Given the description of an element on the screen output the (x, y) to click on. 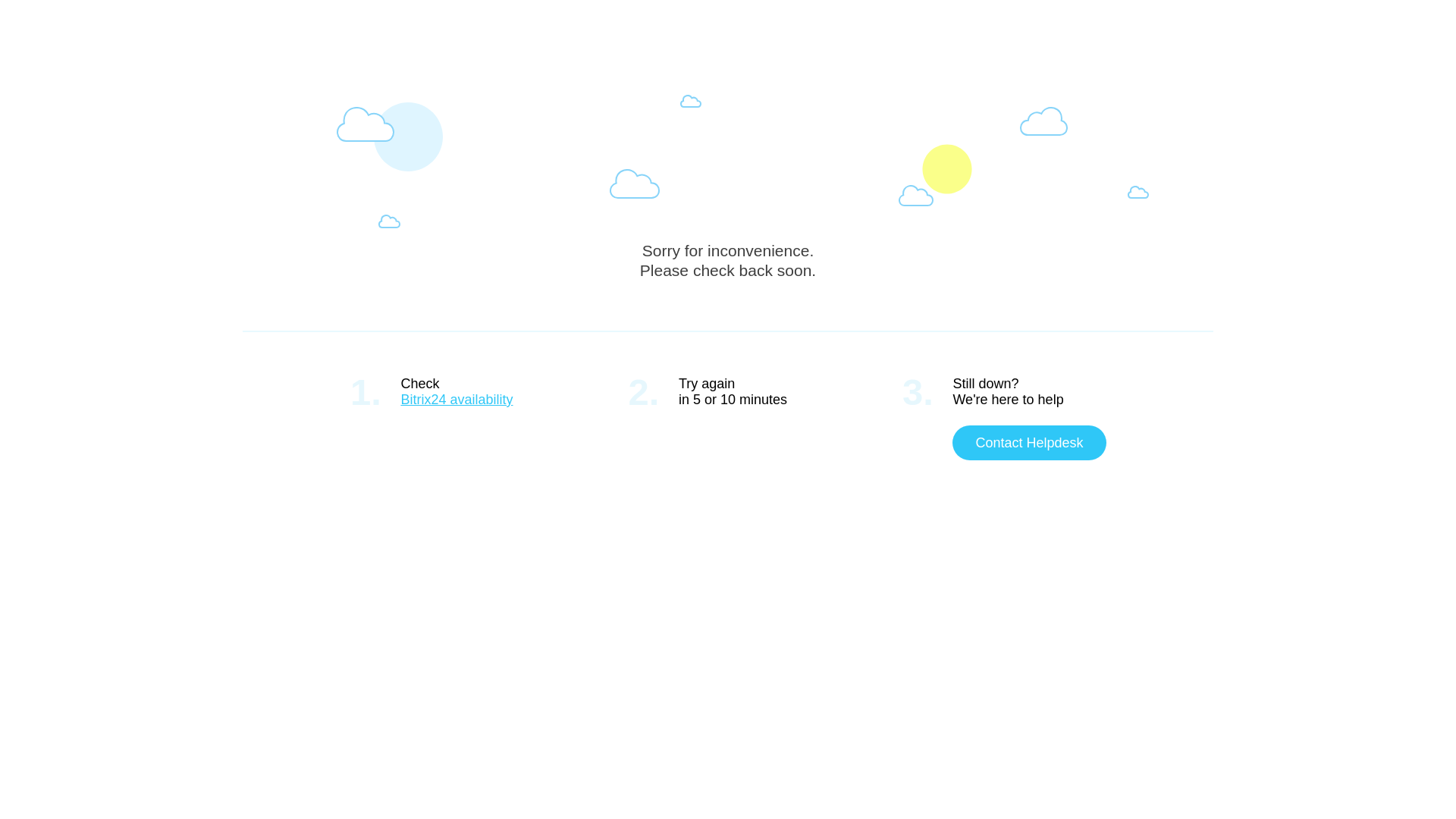
Contact Helpdesk Element type: text (1028, 442)
Bitrix24 availability Element type: text (456, 399)
